Given the description of an element on the screen output the (x, y) to click on. 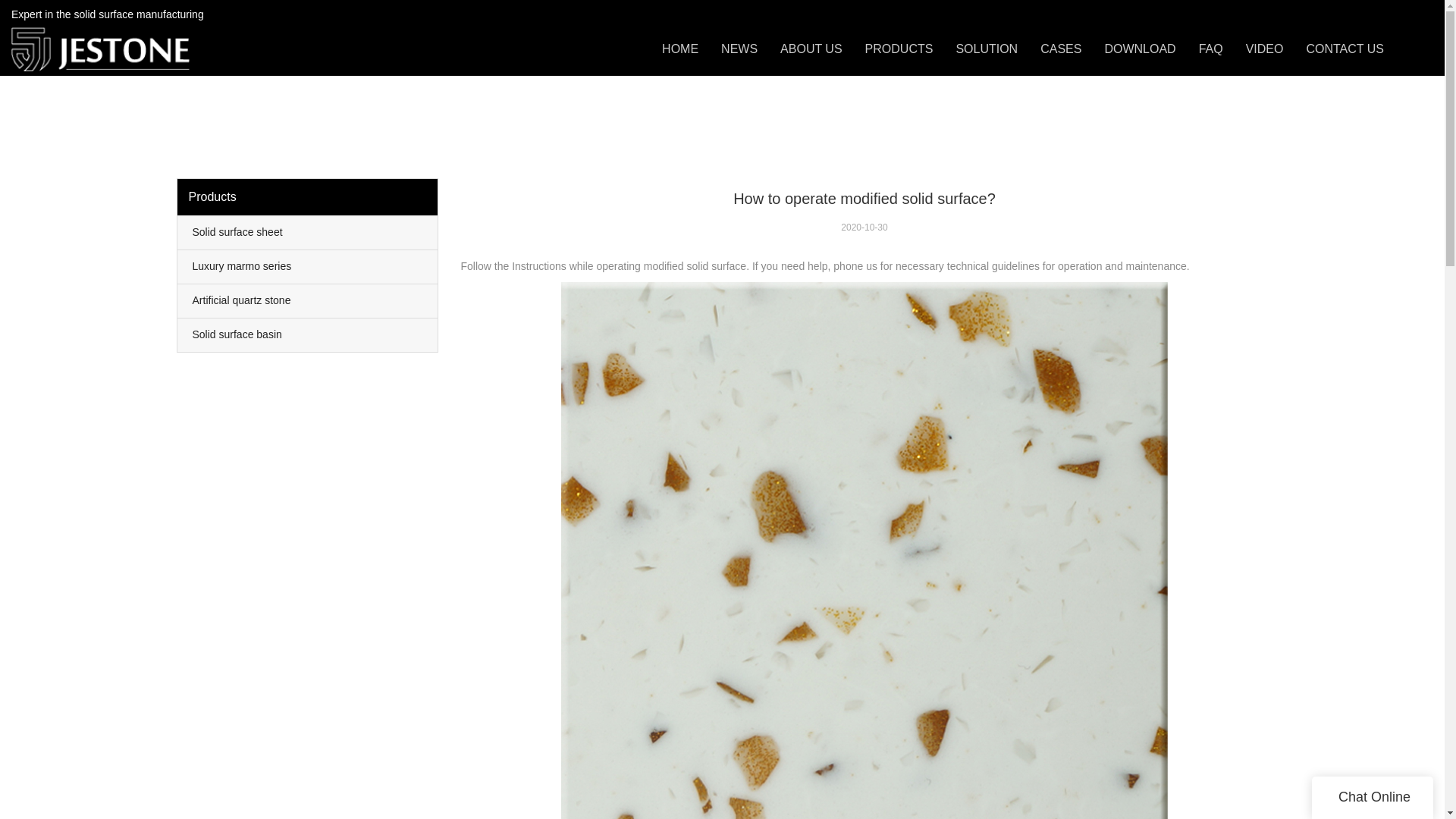
DOWNLOAD (1138, 49)
Solid surface basin (307, 335)
Solid surface sheet (307, 232)
CONTACT US (1345, 49)
SOLUTION (986, 49)
Artificial quartz stone (307, 300)
PRODUCTS (898, 49)
ABOUT US (811, 49)
Luxury marmo series (307, 266)
